Given the description of an element on the screen output the (x, y) to click on. 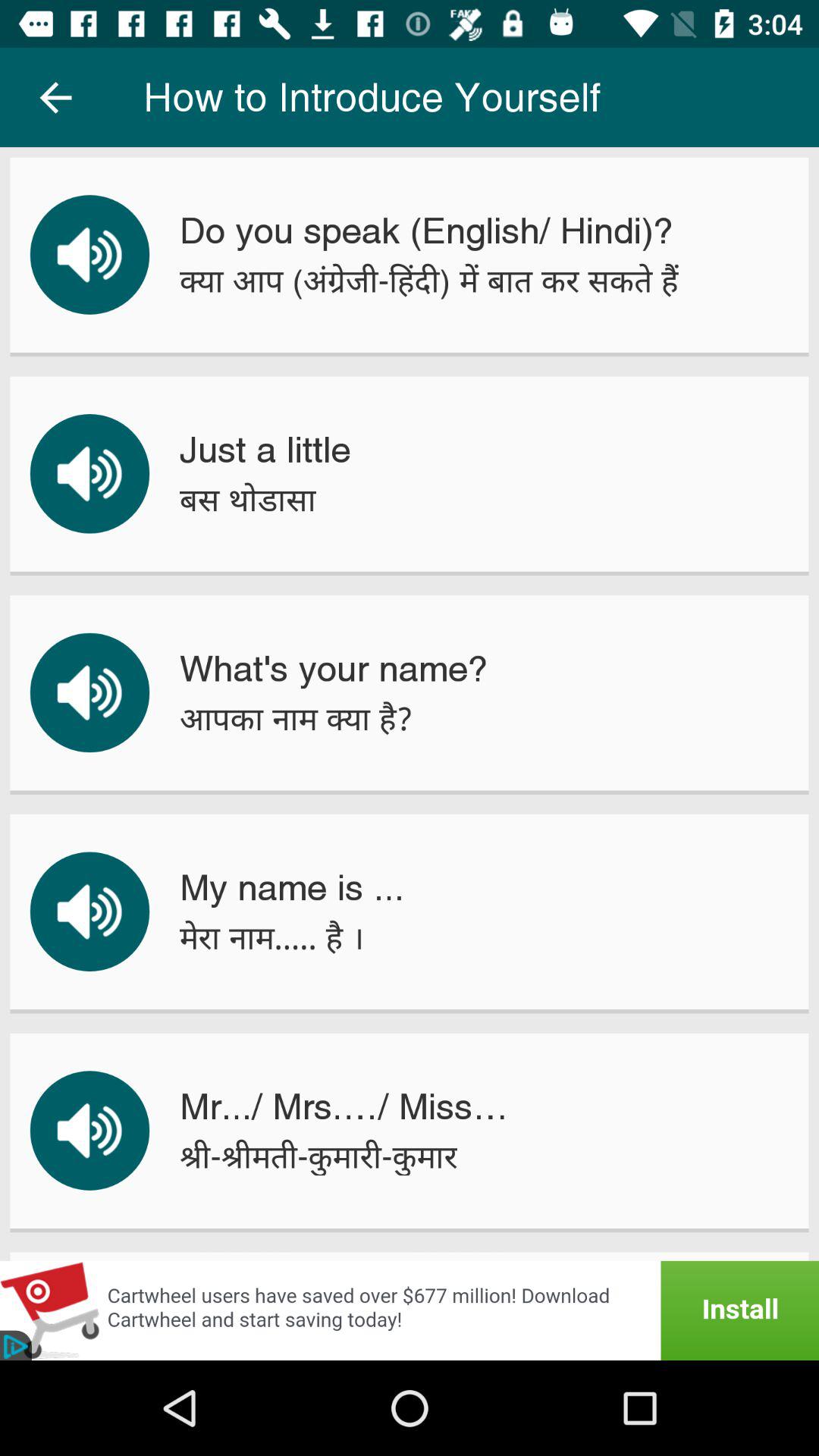
flip to the just a little (264, 449)
